Given the description of an element on the screen output the (x, y) to click on. 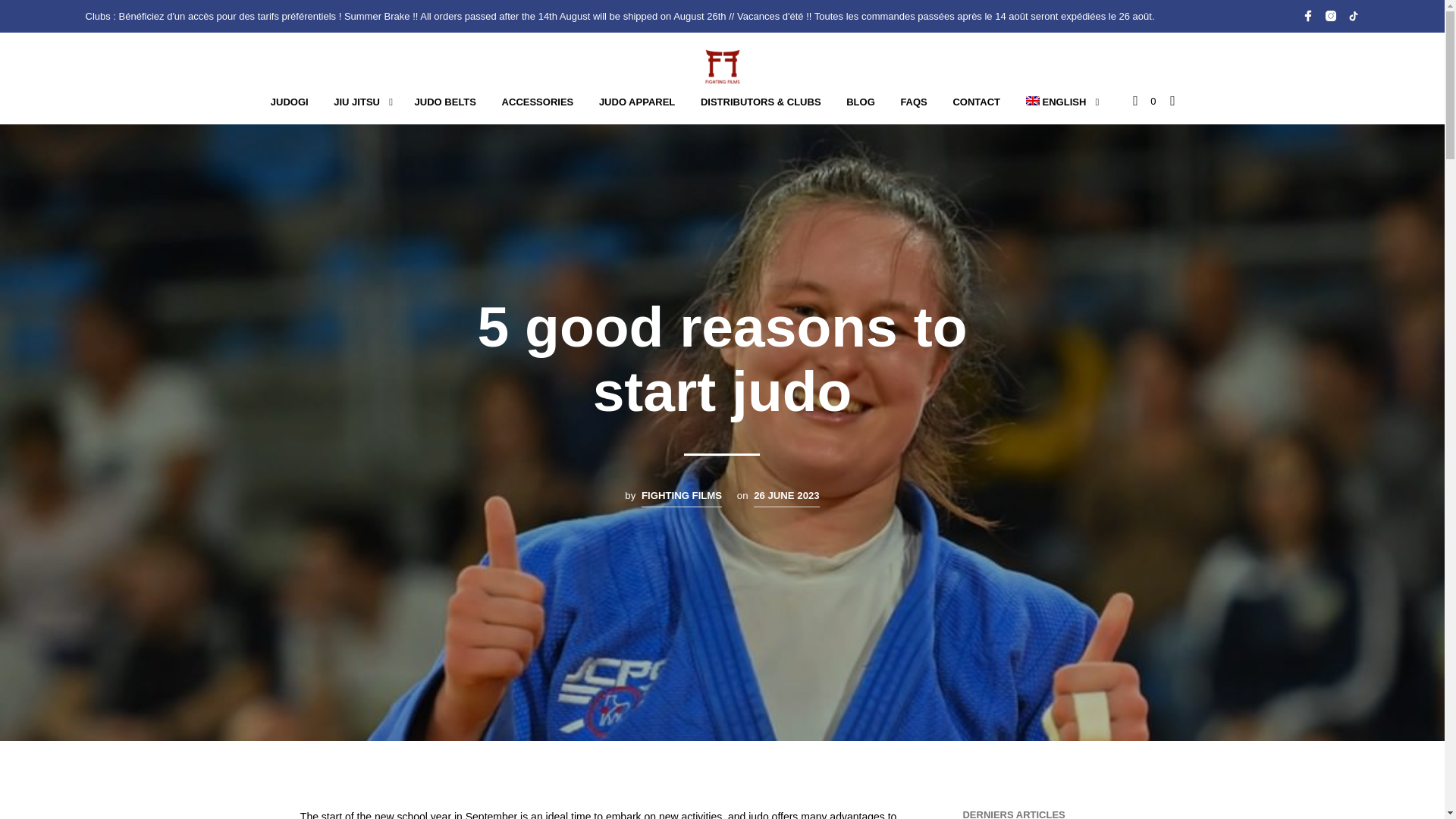
JIU JITSU (356, 102)
Permalink to 5 good reasons to start judo (786, 497)
JUDOGI (289, 102)
JUDO BELTS (445, 102)
BLOG (860, 102)
JUDO APPAREL (636, 102)
26 JUNE 2023 (786, 497)
FIGHTING FILMS (682, 497)
CONTACT (975, 102)
0 (1144, 101)
